Given the description of an element on the screen output the (x, y) to click on. 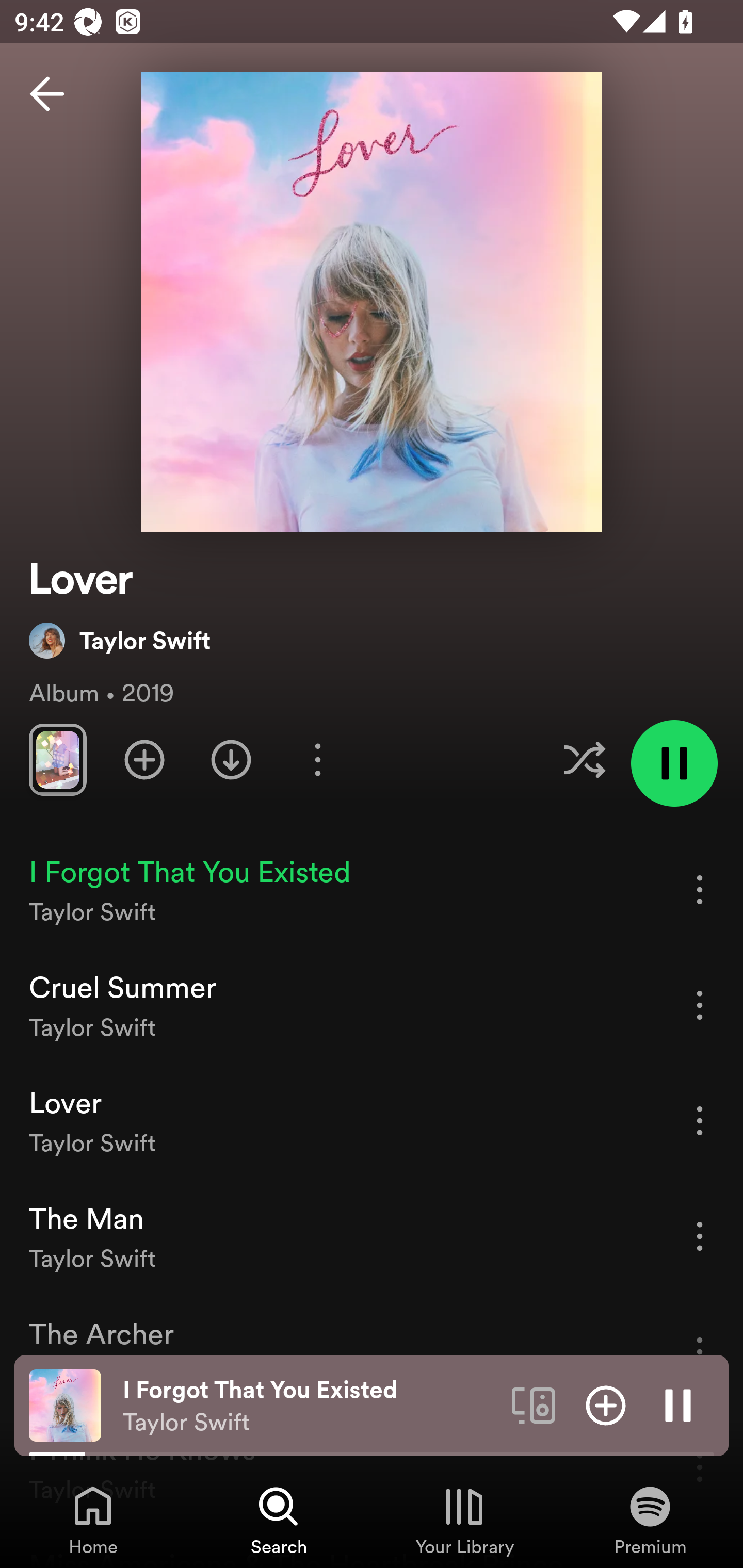
Back (46, 93)
Taylor Swift (119, 640)
Swipe through previews of tracks from this album. (57, 759)
Add playlist to Your Library (144, 759)
Download (230, 759)
More options for playlist Lover (317, 759)
Enable shuffle for this playlist (583, 759)
Pause playlist (674, 763)
More options for song I Forgot That You Existed (699, 889)
More options for song Cruel Summer (699, 1004)
Lover Taylor Swift More options for song Lover (371, 1121)
More options for song Lover (699, 1120)
The Man Taylor Swift More options for song The Man (371, 1236)
More options for song The Man (699, 1236)
I Forgot That You Existed Taylor Swift (309, 1405)
The cover art of the currently playing track (64, 1404)
Connect to a device. Opens the devices menu (533, 1404)
Add item (605, 1404)
Pause (677, 1404)
Home, Tab 1 of 4 Home Home (92, 1519)
Search, Tab 2 of 4 Search Search (278, 1519)
Your Library, Tab 3 of 4 Your Library Your Library (464, 1519)
Premium, Tab 4 of 4 Premium Premium (650, 1519)
